Given the description of an element on the screen output the (x, y) to click on. 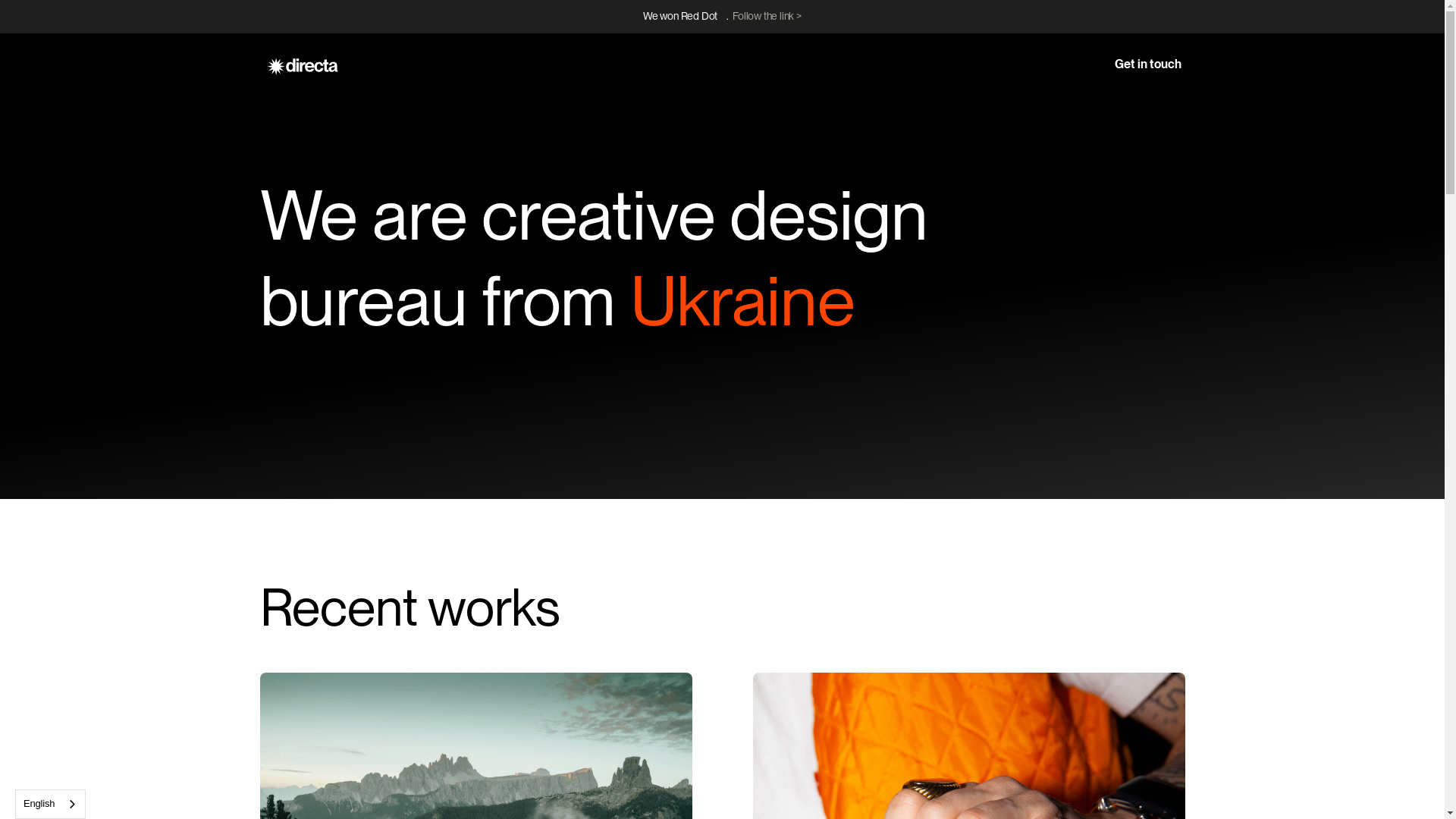
Get in touch Element type: text (1147, 31)
English Element type: text (49, 804)
Services Element type: text (1004, 31)
Follow the link > Element type: text (766, 15)
Projects Element type: text (941, 31)
Get in touch Element type: text (1147, 64)
About us Element type: text (1070, 31)
